Given the description of an element on the screen output the (x, y) to click on. 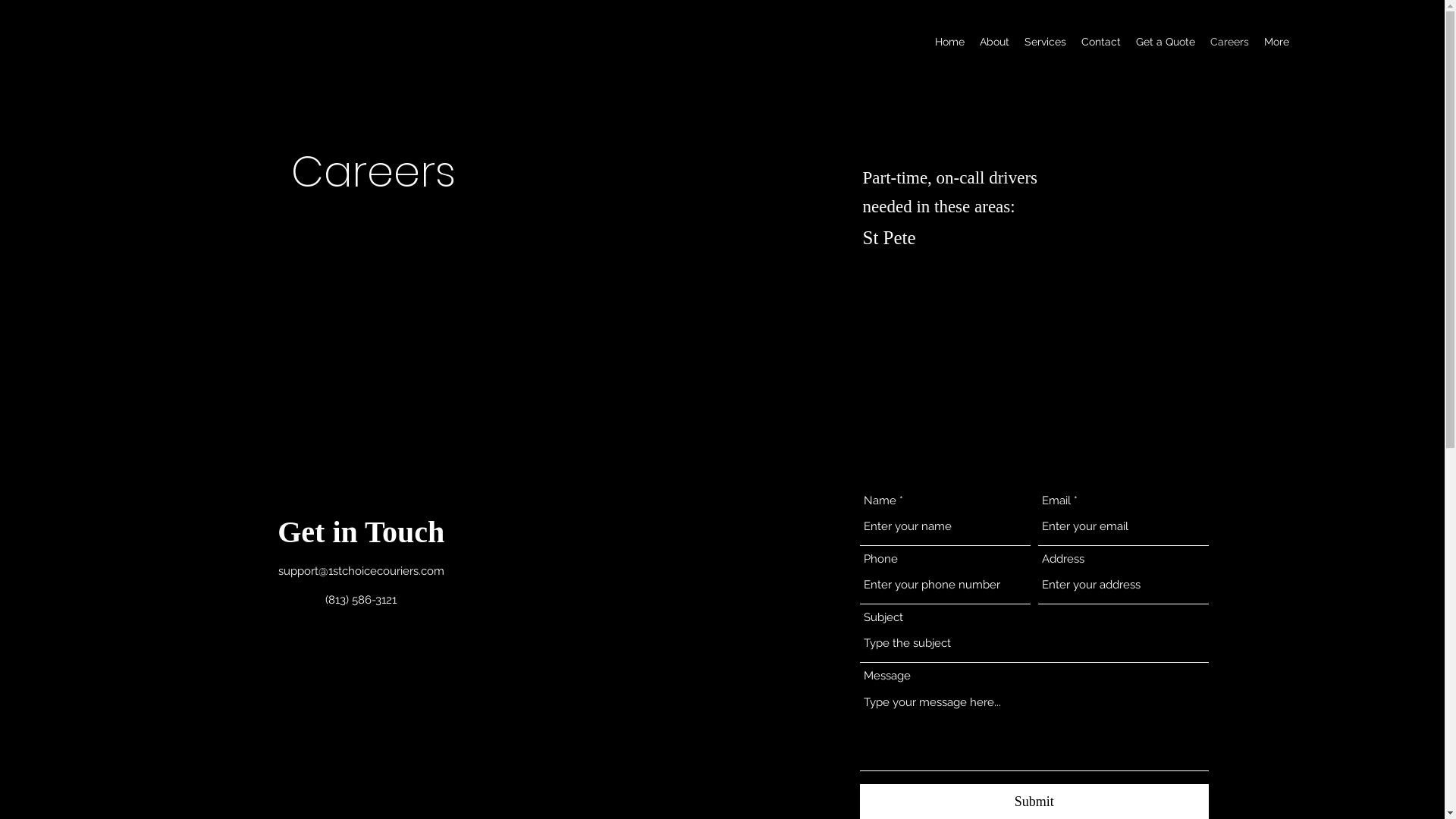
Visitor Analytics Element type: hover (1442, 4)
About Element type: text (994, 41)
support@1stchoicecouriers.com Element type: text (361, 570)
Careers Element type: text (1229, 41)
Get a Quote Element type: text (1165, 41)
Contact Element type: text (1100, 41)
Services Element type: text (1044, 41)
Home Element type: text (949, 41)
